Given the description of an element on the screen output the (x, y) to click on. 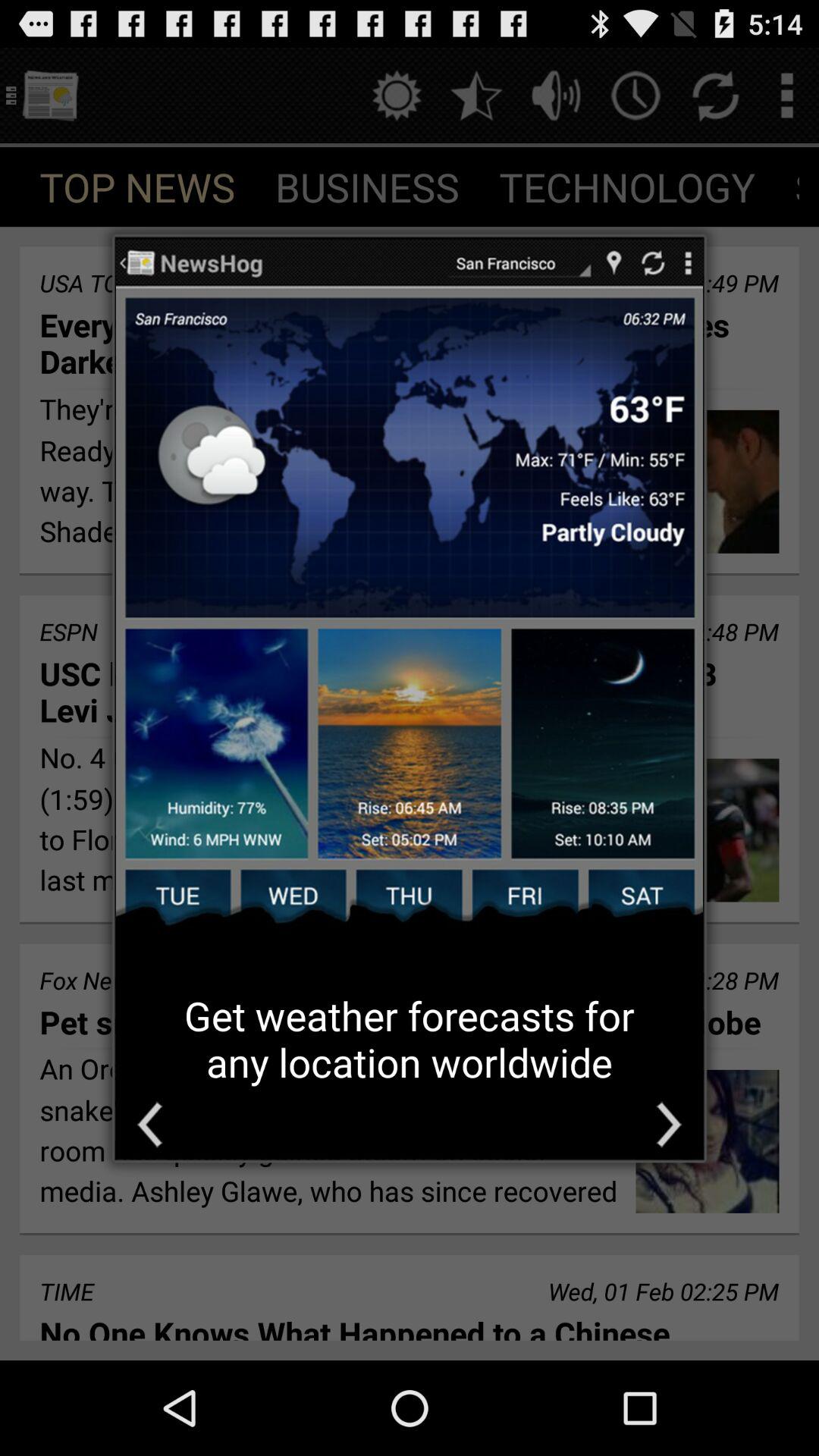
previous option (149, 1124)
